Given the description of an element on the screen output the (x, y) to click on. 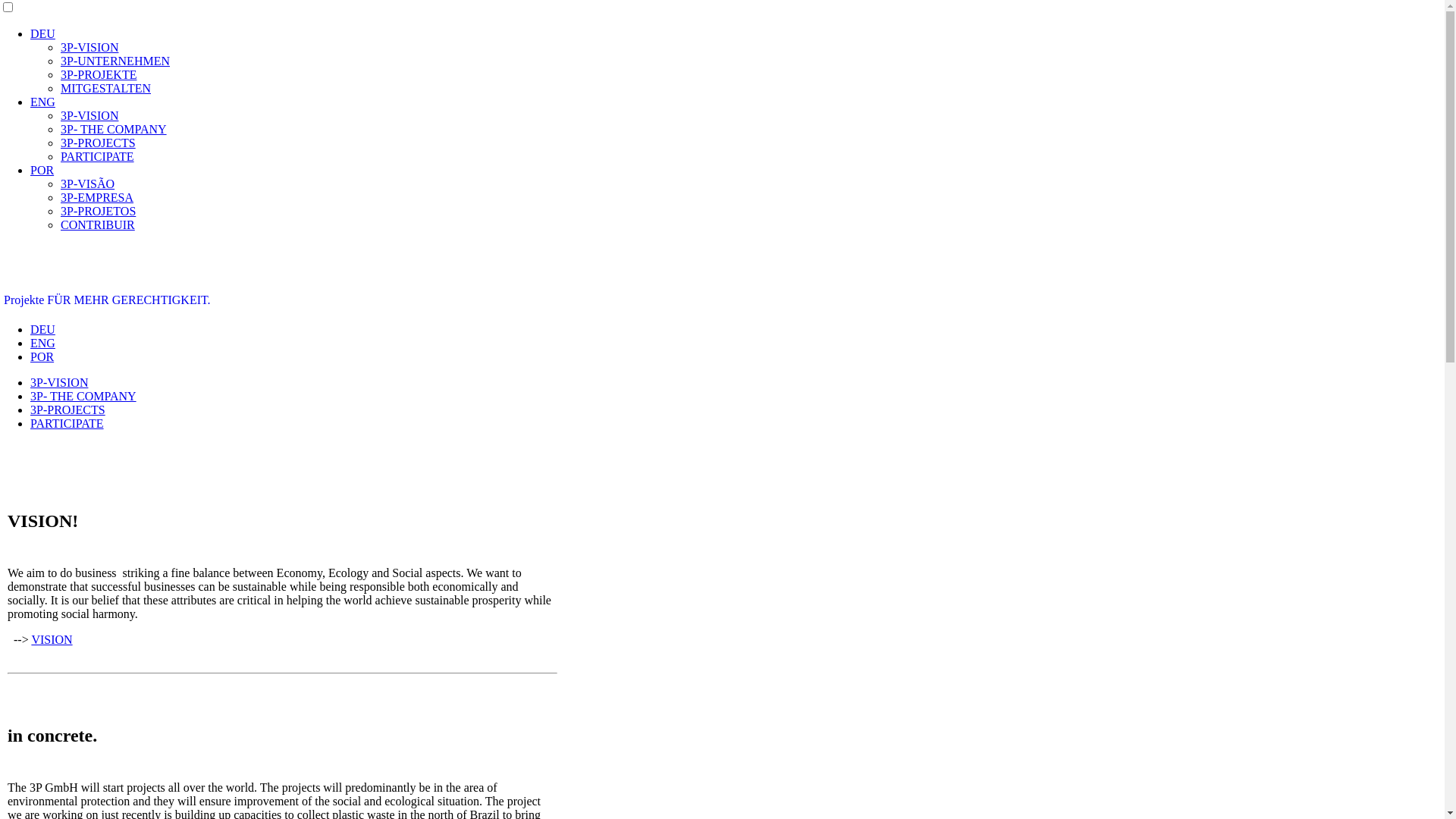
3P-PROJEKTE Element type: text (98, 74)
CONTRIBUIR Element type: text (97, 224)
3P- THE COMPANY Element type: text (113, 128)
PARTICIPATE Element type: text (66, 423)
3P-UNTERNEHMEN Element type: text (114, 60)
3P-VISION Element type: text (89, 115)
3P-EMPRESA Element type: text (96, 197)
ENG Element type: text (42, 101)
3P-PROJECTS Element type: text (67, 409)
3P-VISION Element type: text (89, 46)
MITGESTALTEN Element type: text (105, 87)
3P-PROJECTS Element type: text (97, 142)
ENG Element type: text (42, 342)
DEU Element type: text (42, 329)
3P- THE COMPANY Element type: text (83, 395)
VISION Element type: text (51, 639)
POR Element type: text (41, 356)
PARTICIPATE Element type: text (97, 156)
POR Element type: text (41, 169)
DEU Element type: text (42, 33)
3P-PROJETOS Element type: text (97, 210)
3P-VISION Element type: text (58, 382)
